Given the description of an element on the screen output the (x, y) to click on. 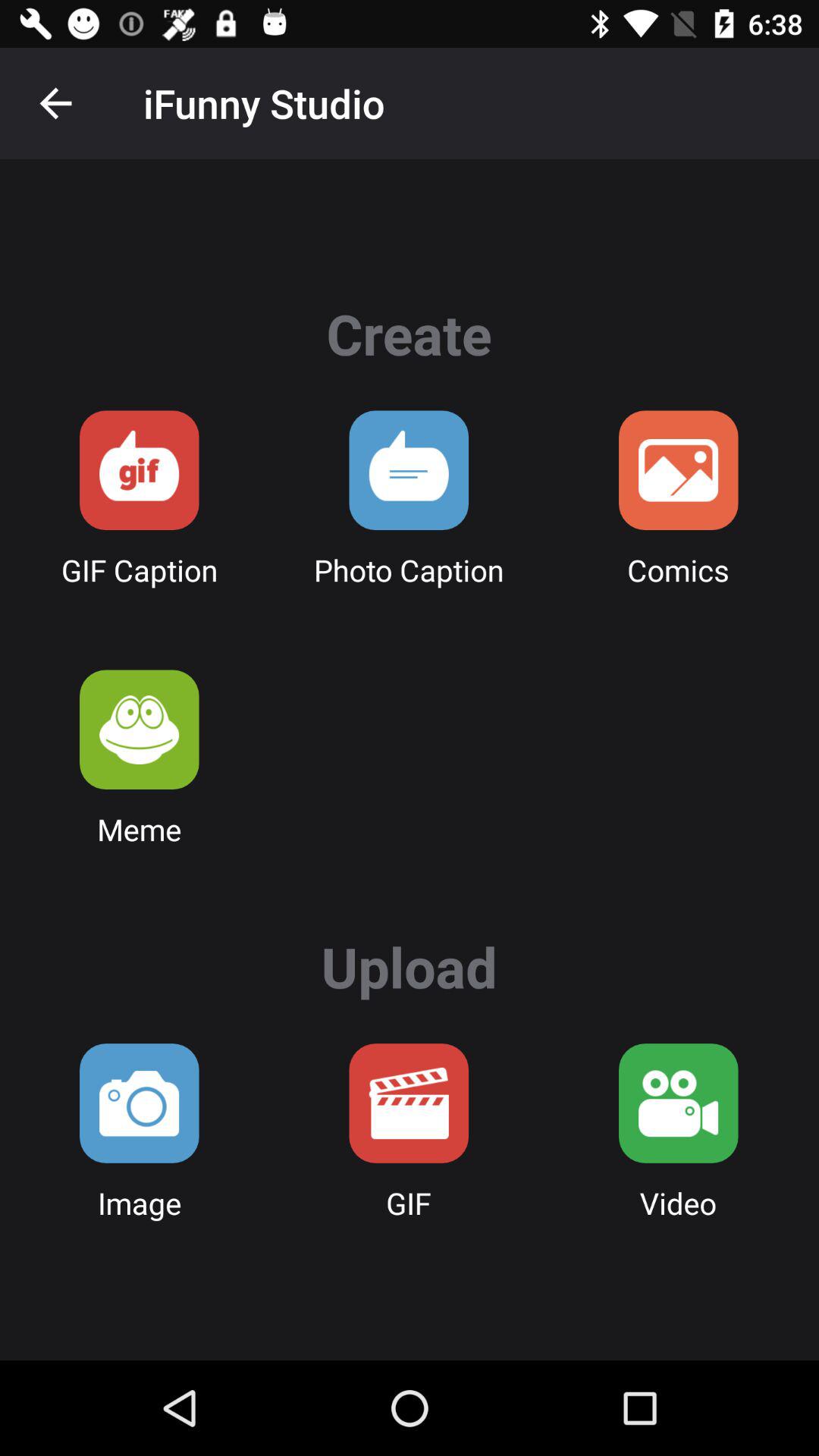
create a meme (139, 729)
